Given the description of an element on the screen output the (x, y) to click on. 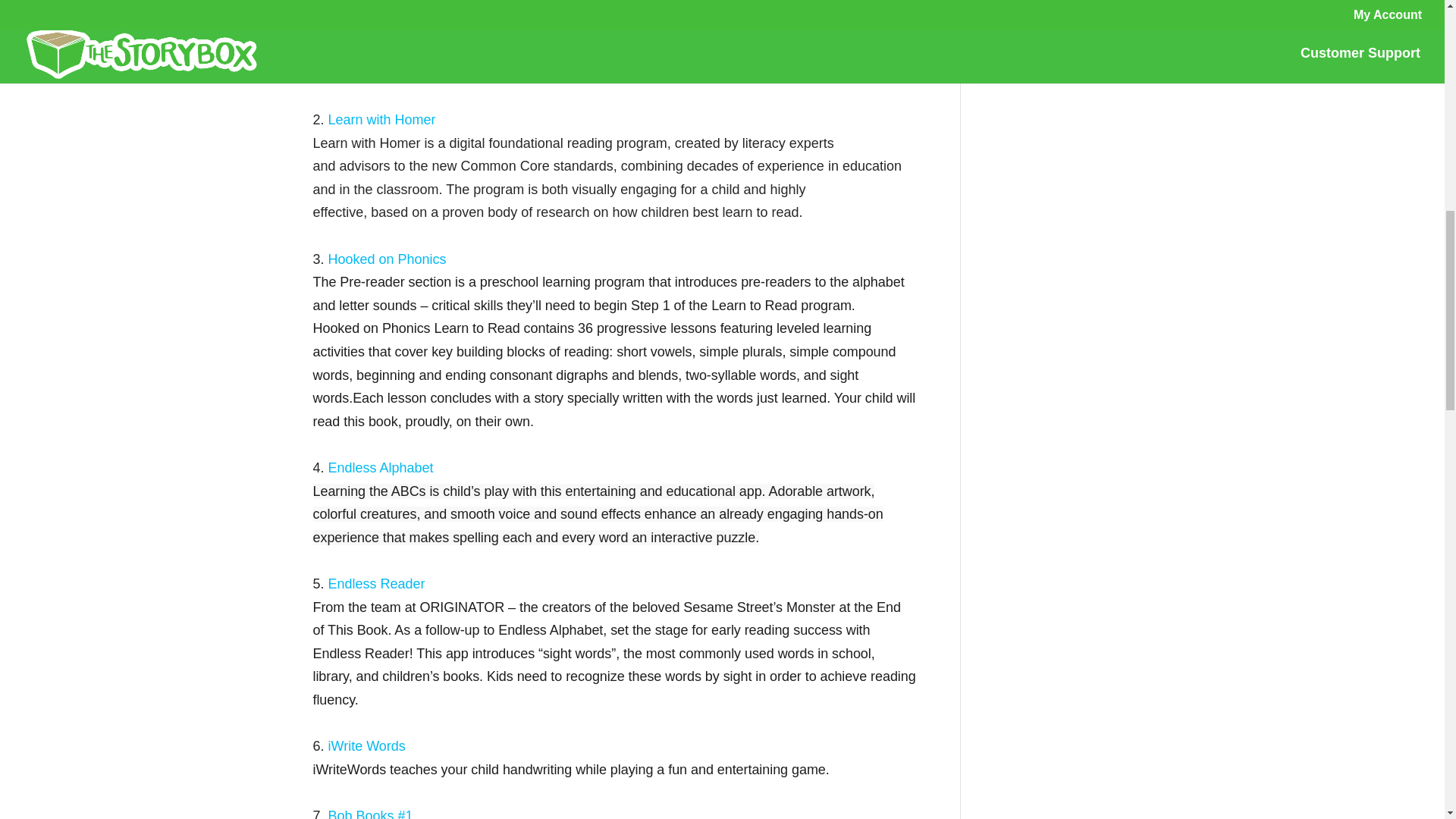
iWrite Words (367, 745)
Hooked on Phonics  (389, 258)
Endless Alphabet (381, 467)
Endless Reader (374, 583)
Learn with Homer  (384, 119)
